Given the description of an element on the screen output the (x, y) to click on. 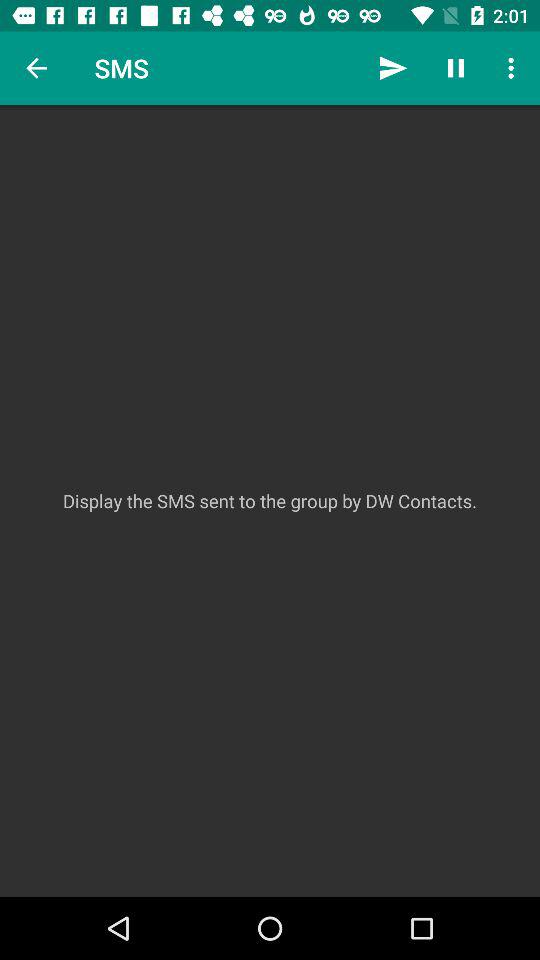
open the icon above display the sms (36, 68)
